Given the description of an element on the screen output the (x, y) to click on. 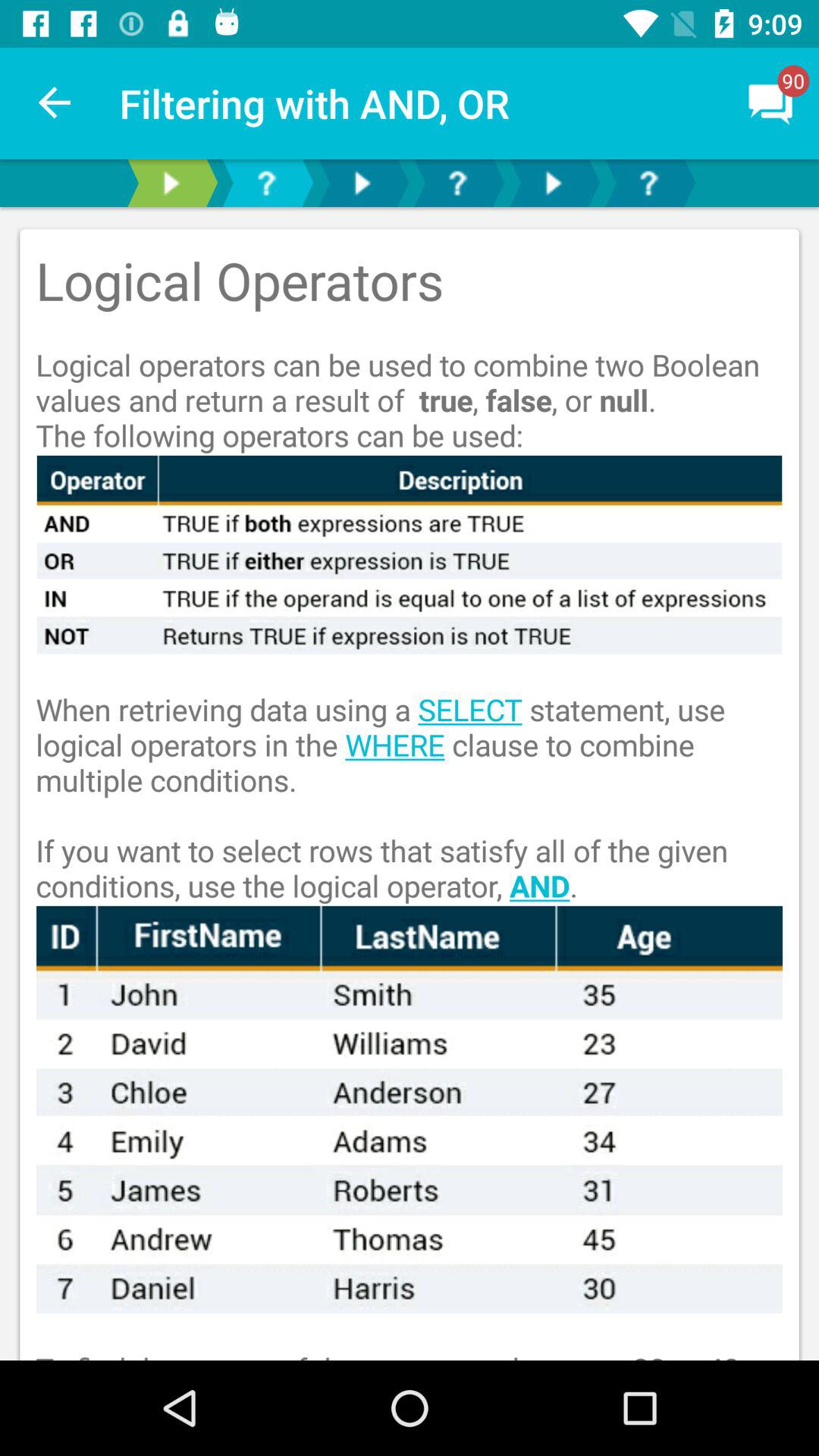
click the icon above logical operators (771, 103)
